Given the description of an element on the screen output the (x, y) to click on. 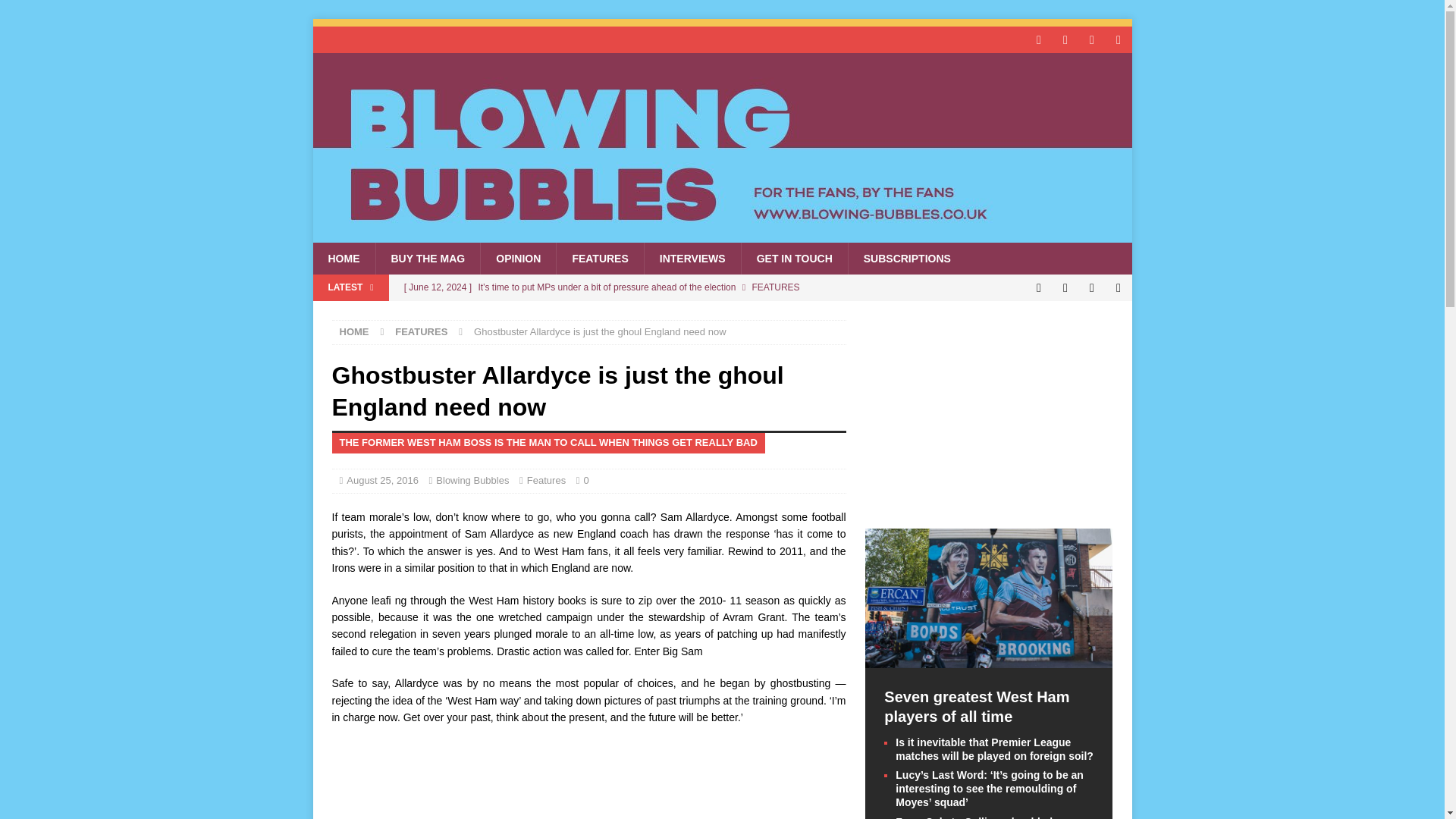
SUBSCRIPTIONS (906, 258)
GET IN TOUCH (794, 258)
Advertisement (588, 780)
OPINION (518, 258)
Blowing Bubbles (471, 480)
August 25, 2016 (382, 480)
HOME (354, 331)
Seven greatest West Ham players of all time (620, 312)
HOME (343, 258)
Advertisement (988, 414)
Blowing Bubbles (722, 234)
BUY THE MAG (427, 258)
Features (546, 480)
INTERVIEWS (692, 258)
FEATURES (599, 258)
